Given the description of an element on the screen output the (x, y) to click on. 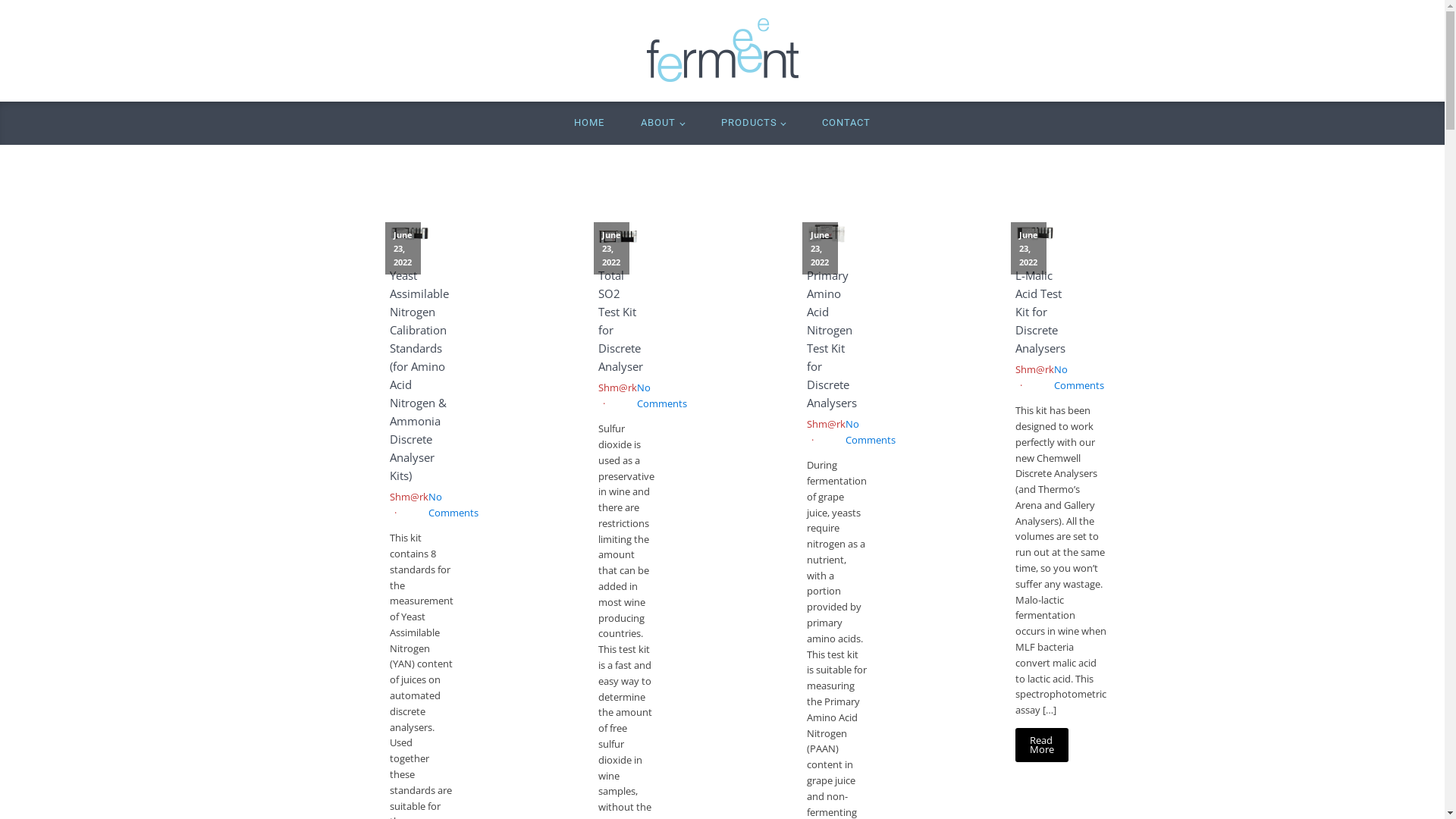
No Comments Element type: text (662, 394)
No Comments Element type: text (452, 503)
Total SO2 Test Kit for Discrete Analyser Element type: text (619, 320)
June 23, 2022 Element type: text (409, 233)
Read More Element type: text (1040, 745)
HOME Element type: text (588, 122)
June 23, 2022 Element type: text (1034, 233)
No Comments Element type: text (1079, 376)
Primary Amino Acid Nitrogen Test Kit for Discrete Analysers Element type: text (831, 338)
June 23, 2022 Element type: text (617, 233)
PRODUCTS Element type: text (752, 122)
ABOUT Element type: text (662, 122)
June 23, 2022 Element type: text (826, 233)
CONTACT Element type: text (845, 122)
No Comments Element type: text (869, 431)
L-Malic Acid Test Kit for Discrete Analysers Element type: text (1039, 311)
